Given the description of an element on the screen output the (x, y) to click on. 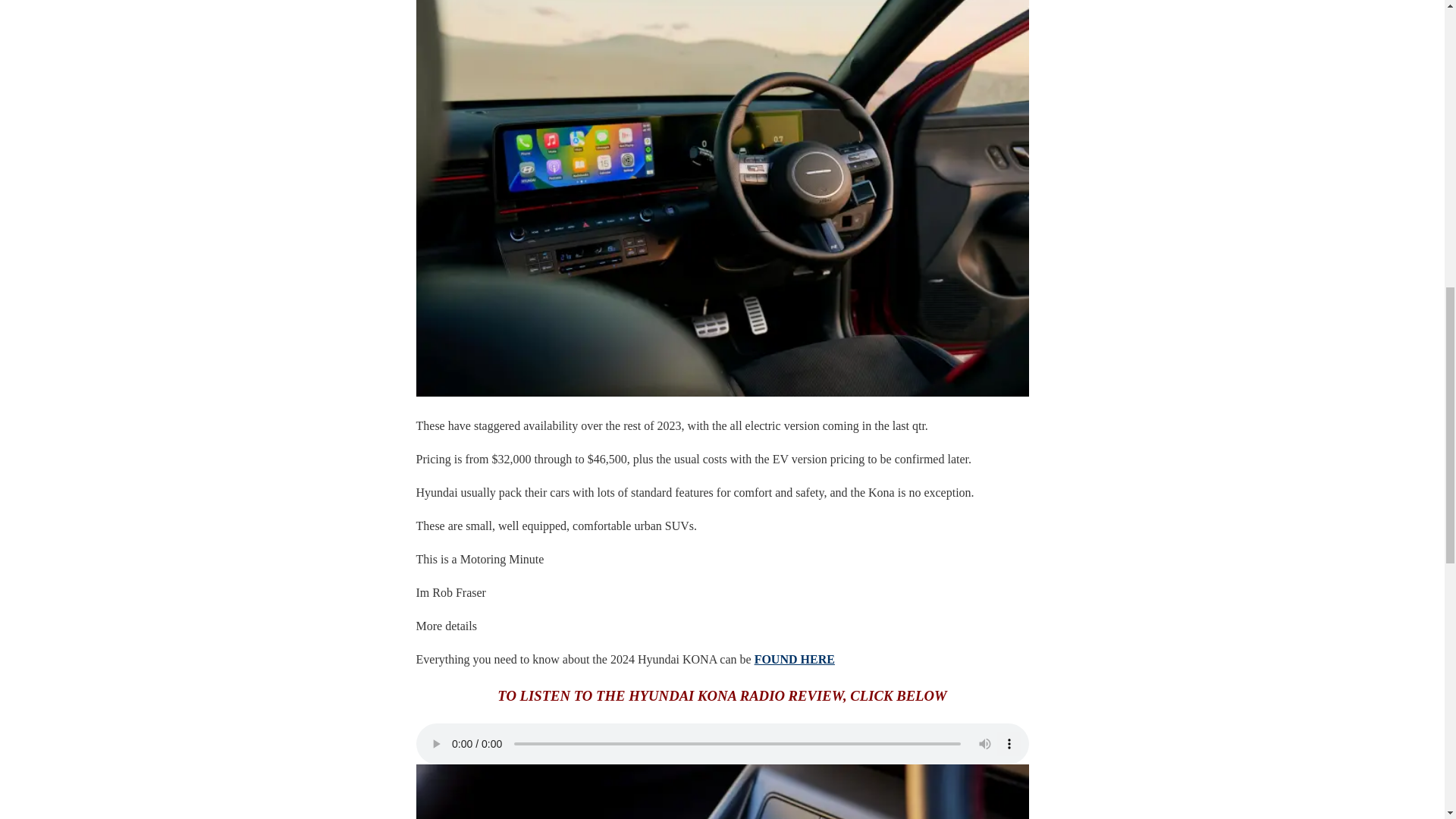
FOUND HERE (794, 658)
